Given the description of an element on the screen output the (x, y) to click on. 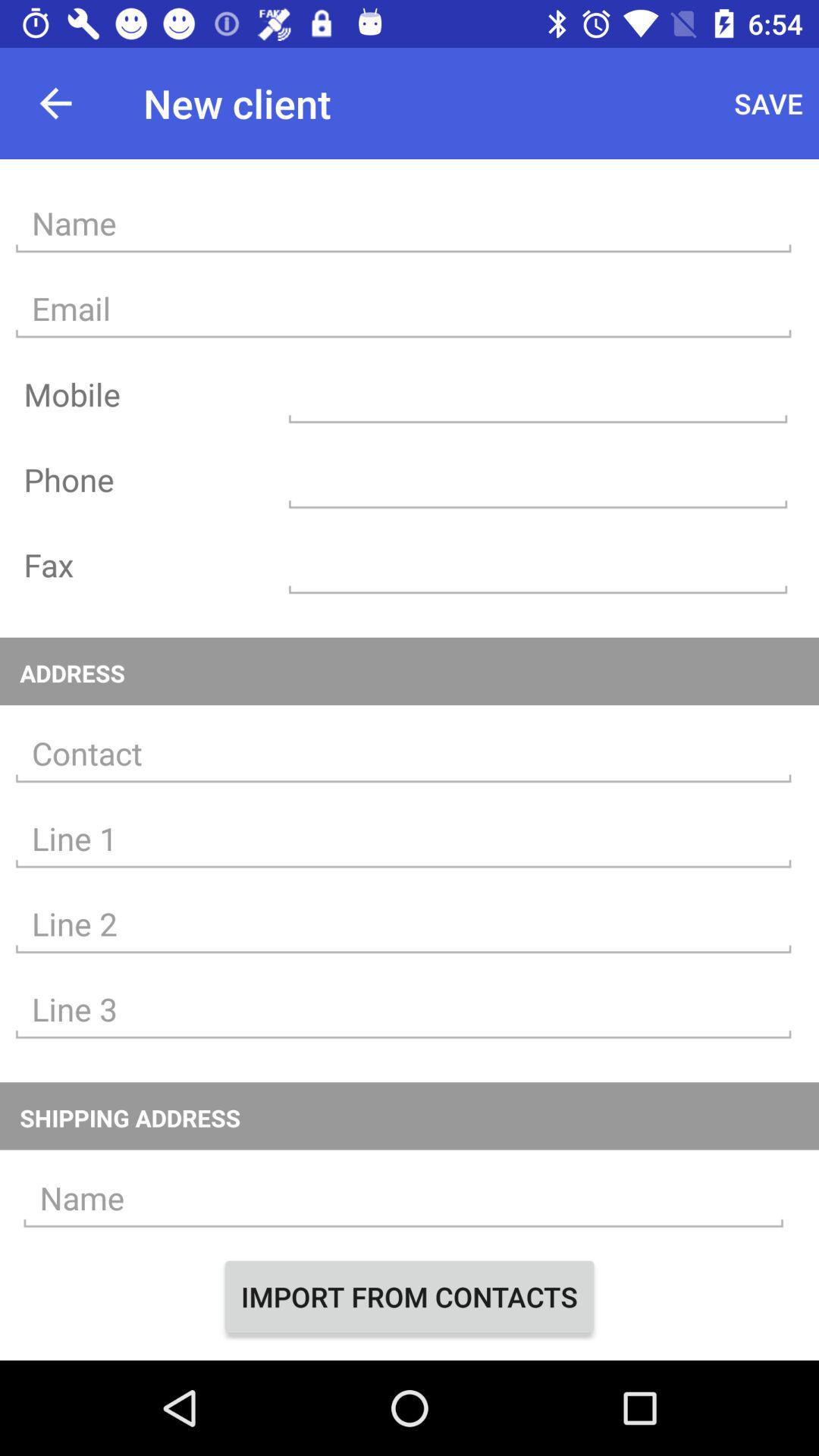
click item above mobile icon (403, 308)
